Given the description of an element on the screen output the (x, y) to click on. 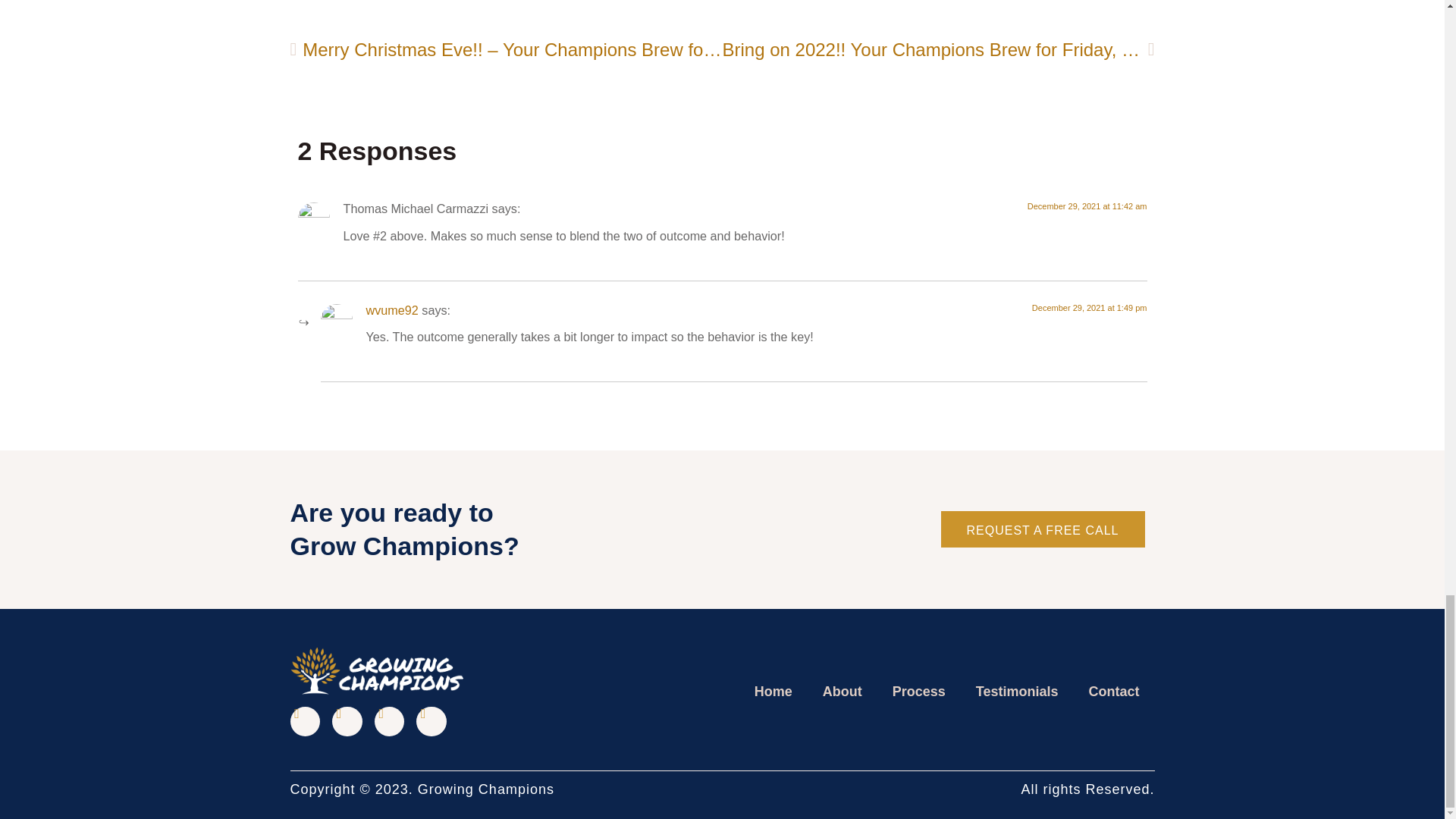
wvume92 (391, 309)
About (842, 691)
Home (773, 691)
December 29, 2021 at 1:49 pm (1089, 307)
Contact (1114, 691)
Testimonials (1017, 691)
REQUEST A FREE CALL (1042, 529)
December 29, 2021 at 11:42 am (1087, 205)
Process (918, 691)
